Given the description of an element on the screen output the (x, y) to click on. 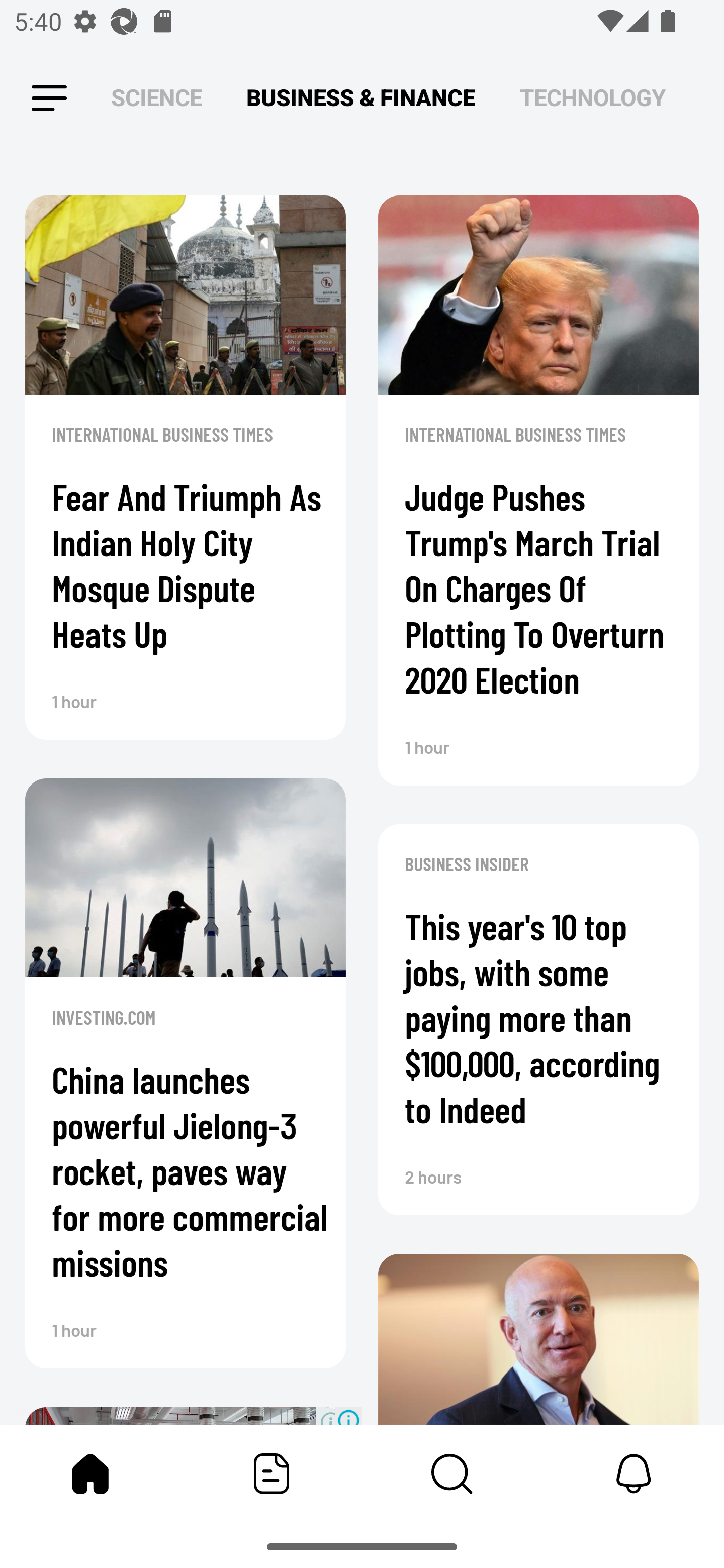
Leading Icon (49, 98)
SCIENCE (155, 97)
TECHNOLOGY (592, 97)
Featured (271, 1473)
Content Store (452, 1473)
Notifications (633, 1473)
